Given the description of an element on the screen output the (x, y) to click on. 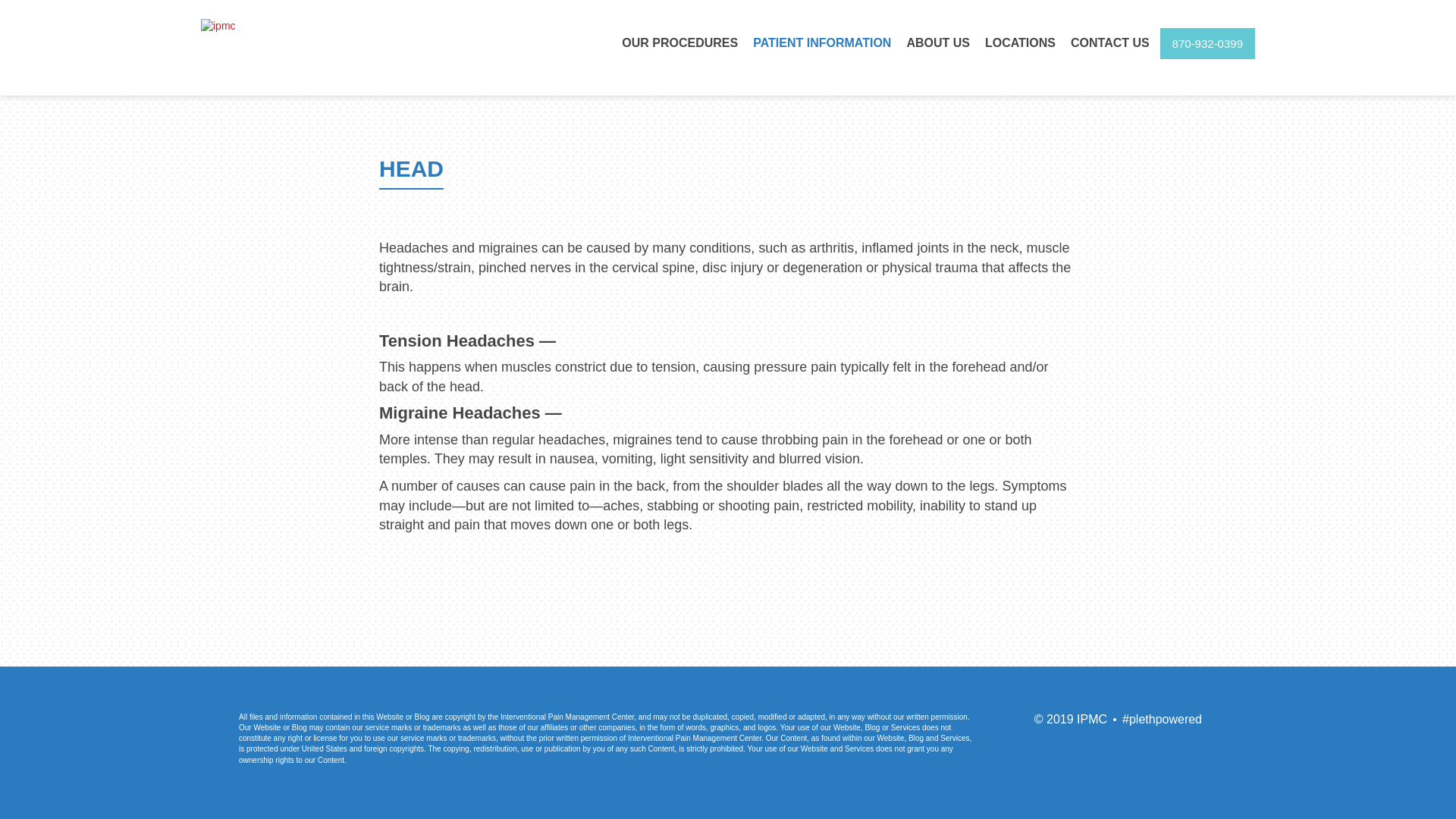
ABOUT US (937, 42)
PATIENT INFORMATION (821, 42)
OUR PROCEDURES (679, 42)
LOCATIONS (1019, 42)
CONTACT US (1109, 42)
870-932-0399 (1207, 42)
